Given the description of an element on the screen output the (x, y) to click on. 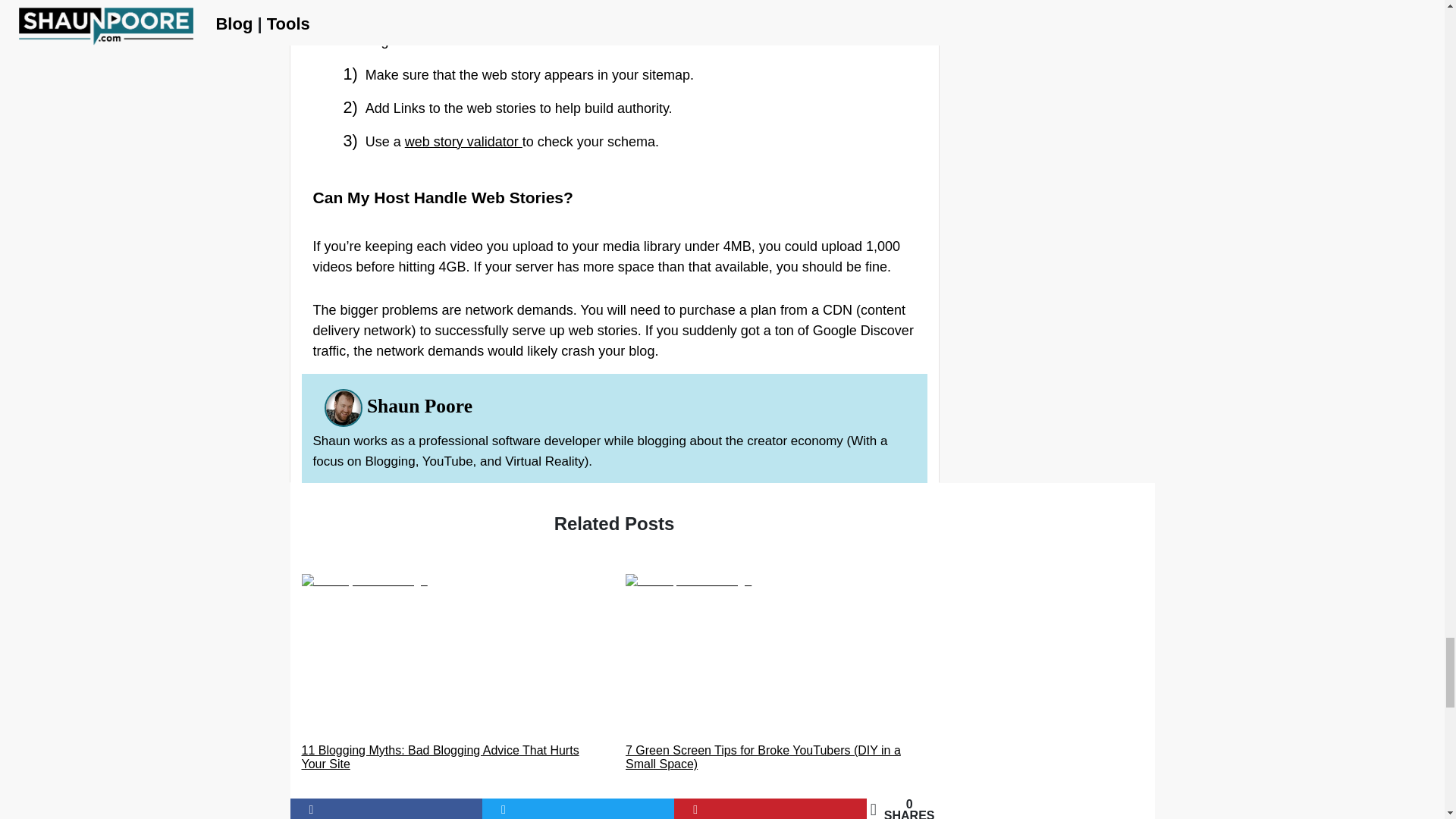
Shaun Poore (418, 405)
11 Blogging Myths: Bad Blogging Advice That Hurts Your Site (452, 672)
web story validator (463, 141)
